Given the description of an element on the screen output the (x, y) to click on. 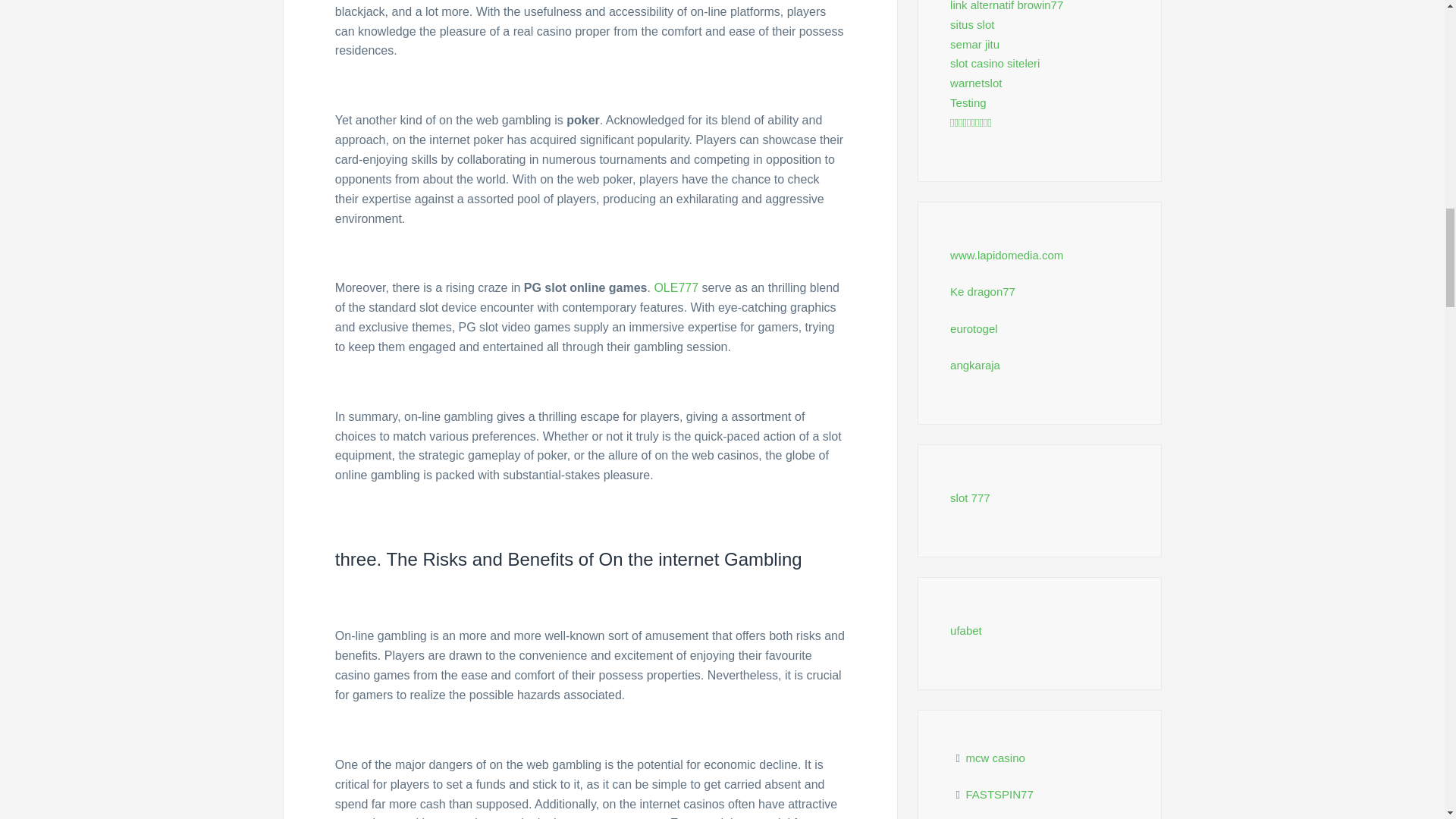
slot casino siteleri (994, 62)
Testing (968, 102)
situs slot (972, 24)
Ke dragon77 (982, 291)
semar jitu (974, 43)
OLE777 (675, 287)
link alternatif browin77 (1006, 5)
warnetslot (975, 82)
www.lapidomedia.com (1006, 254)
